Given the description of an element on the screen output the (x, y) to click on. 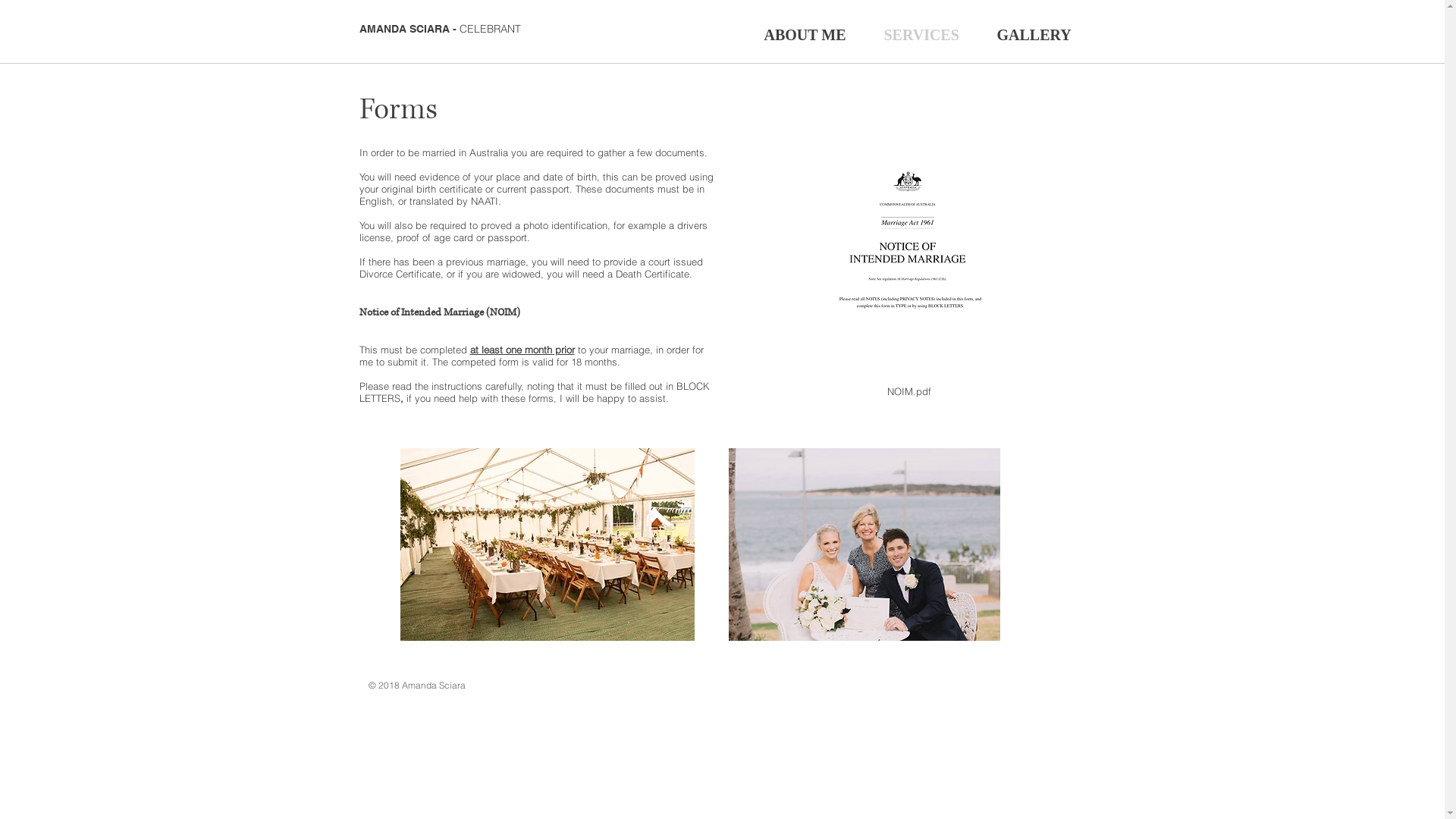
ABOUT ME Element type: text (804, 32)
SERVICES Element type: text (920, 32)
GALLERY Element type: text (1034, 32)
NOIM.pdf Element type: text (909, 264)
